Given the description of an element on the screen output the (x, y) to click on. 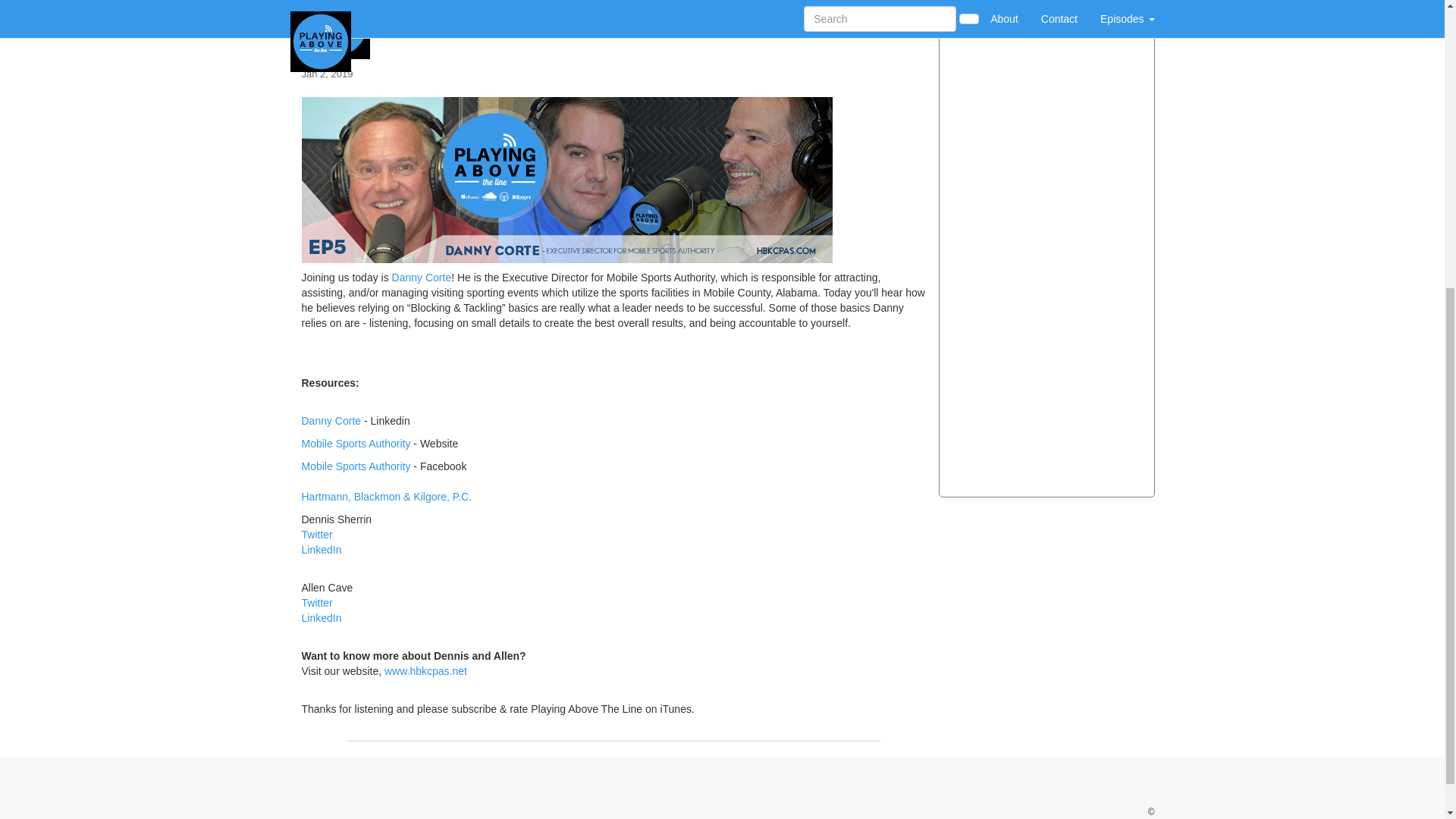
Ep.5 - Danny Corte (614, 29)
